Given the description of an element on the screen output the (x, y) to click on. 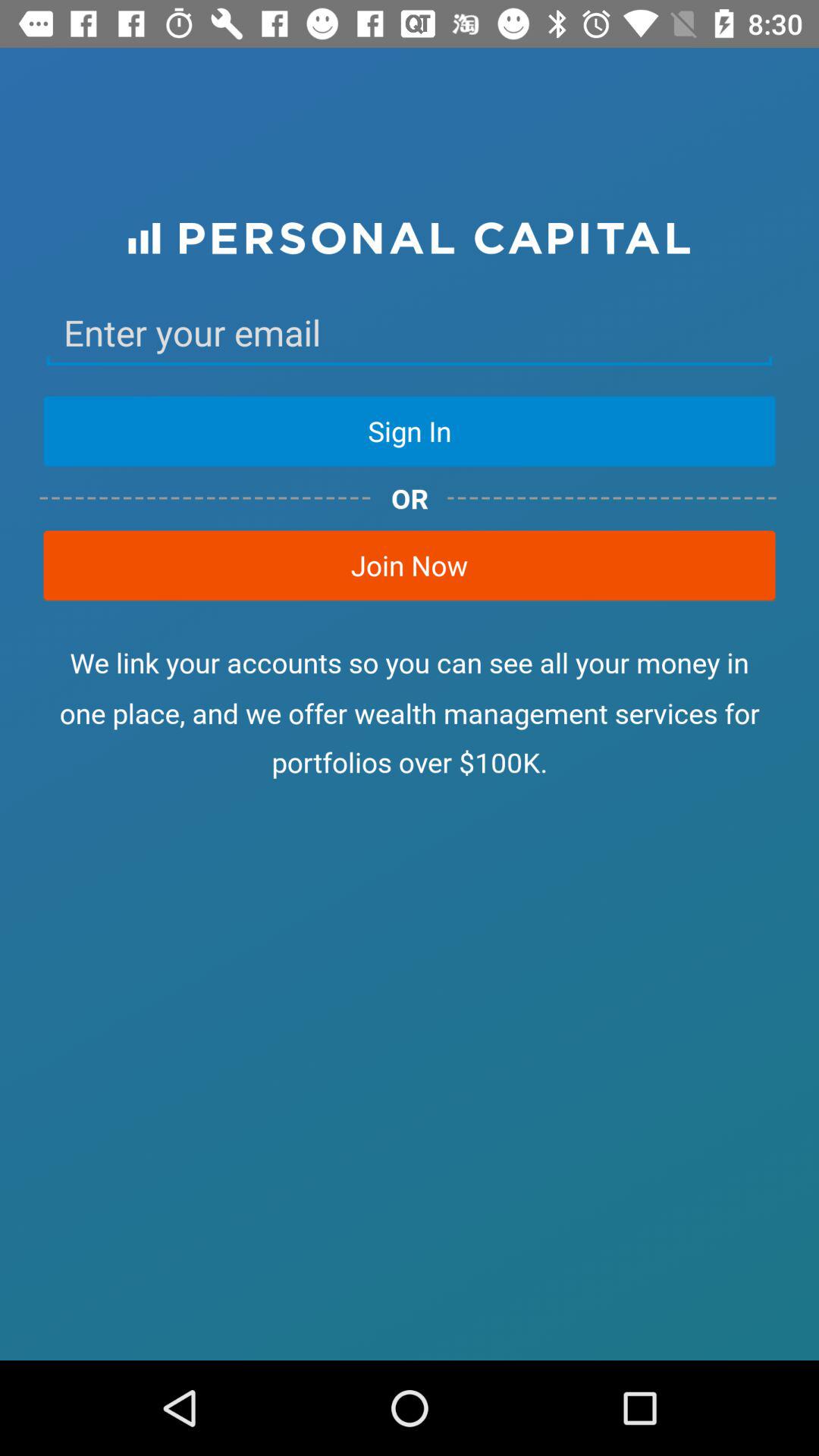
flip until the join now button (409, 565)
